Given the description of an element on the screen output the (x, y) to click on. 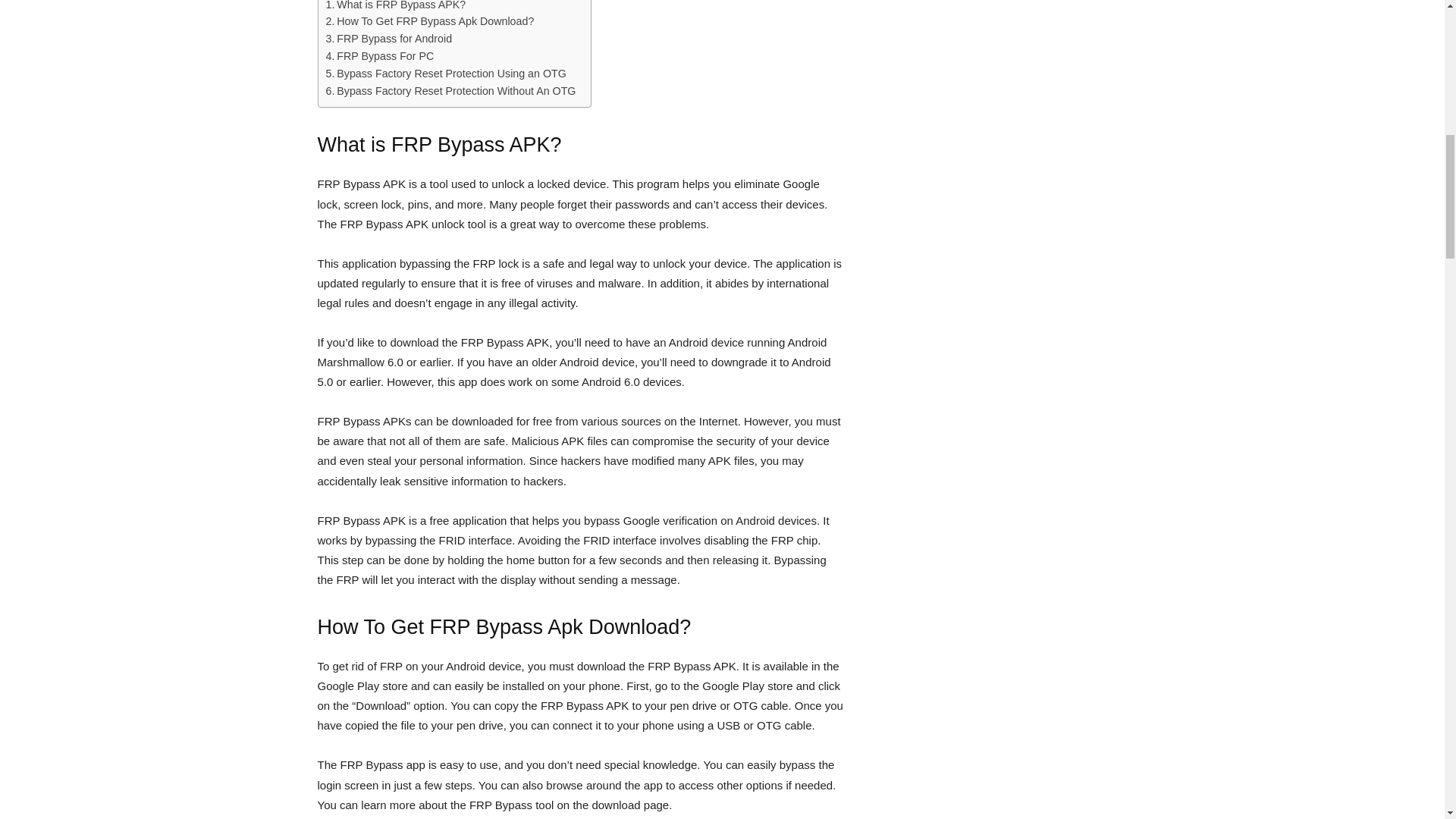
Bypass Factory Reset Protection Using an OTG (446, 73)
How To Get FRP Bypass Apk Download? (430, 21)
FRP Bypass for Android (389, 38)
What is FRP Bypass APK? (395, 6)
FRP Bypass For PC (379, 56)
